Given the description of an element on the screen output the (x, y) to click on. 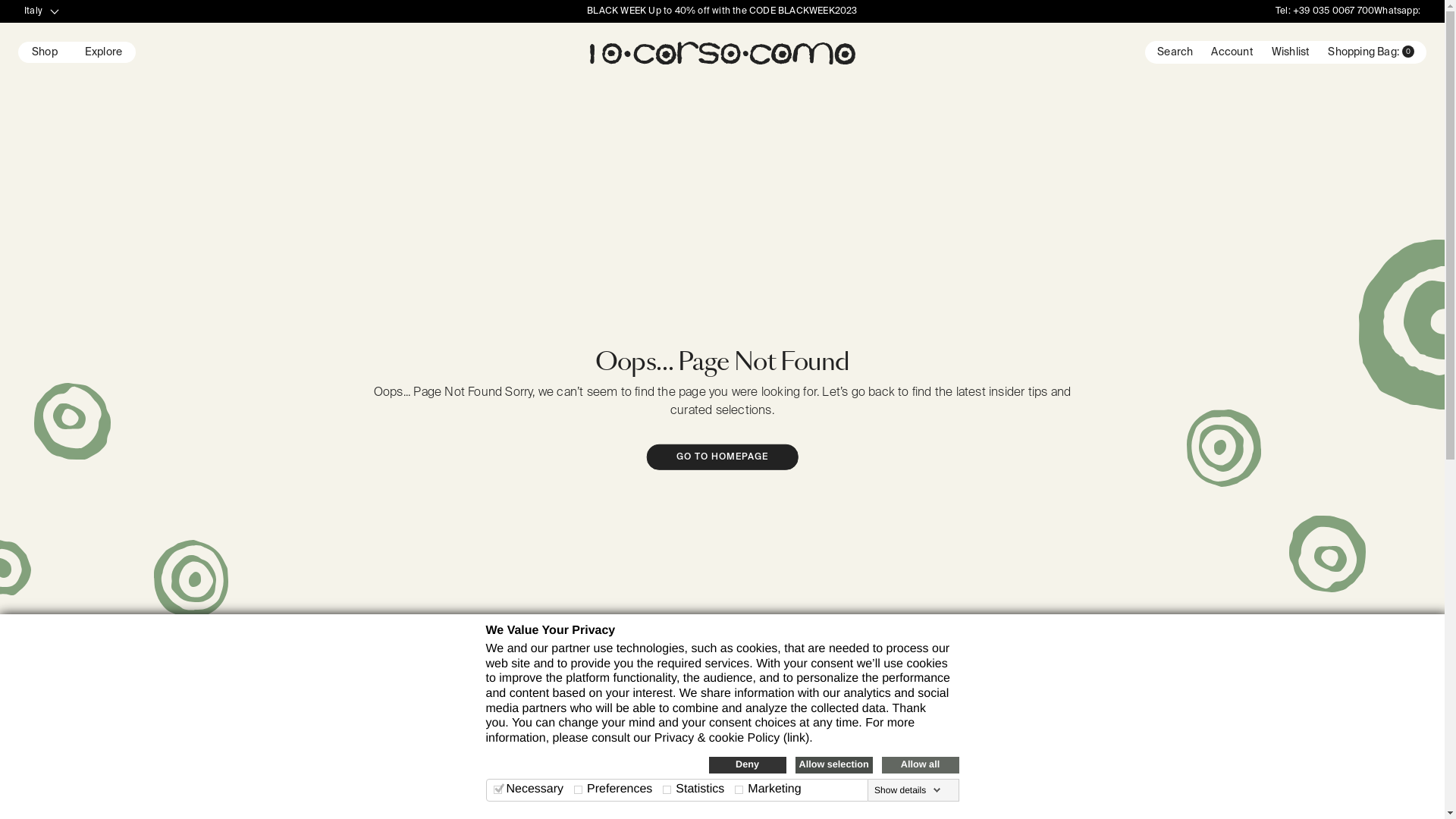
Show details Element type: text (907, 790)
Allow all Element type: text (919, 764)
Italy Element type: text (41, 11)
Tel: +39 035 0067 700 Element type: text (1324, 10)
Allow selection Element type: text (833, 764)
Wishlist Element type: text (1281, 51)
Whatsapp: +39 3346445116 Element type: text (1372, 22)
Shop Element type: text (44, 51)
Deny Element type: text (746, 764)
Explore Element type: text (103, 51)
Search Element type: text (1168, 51)
Account Element type: text (1222, 51)
GO TO HOMEPAGE Element type: text (721, 457)
Shopping Bag
:
0 Element type: text (1367, 51)
